Given the description of an element on the screen output the (x, y) to click on. 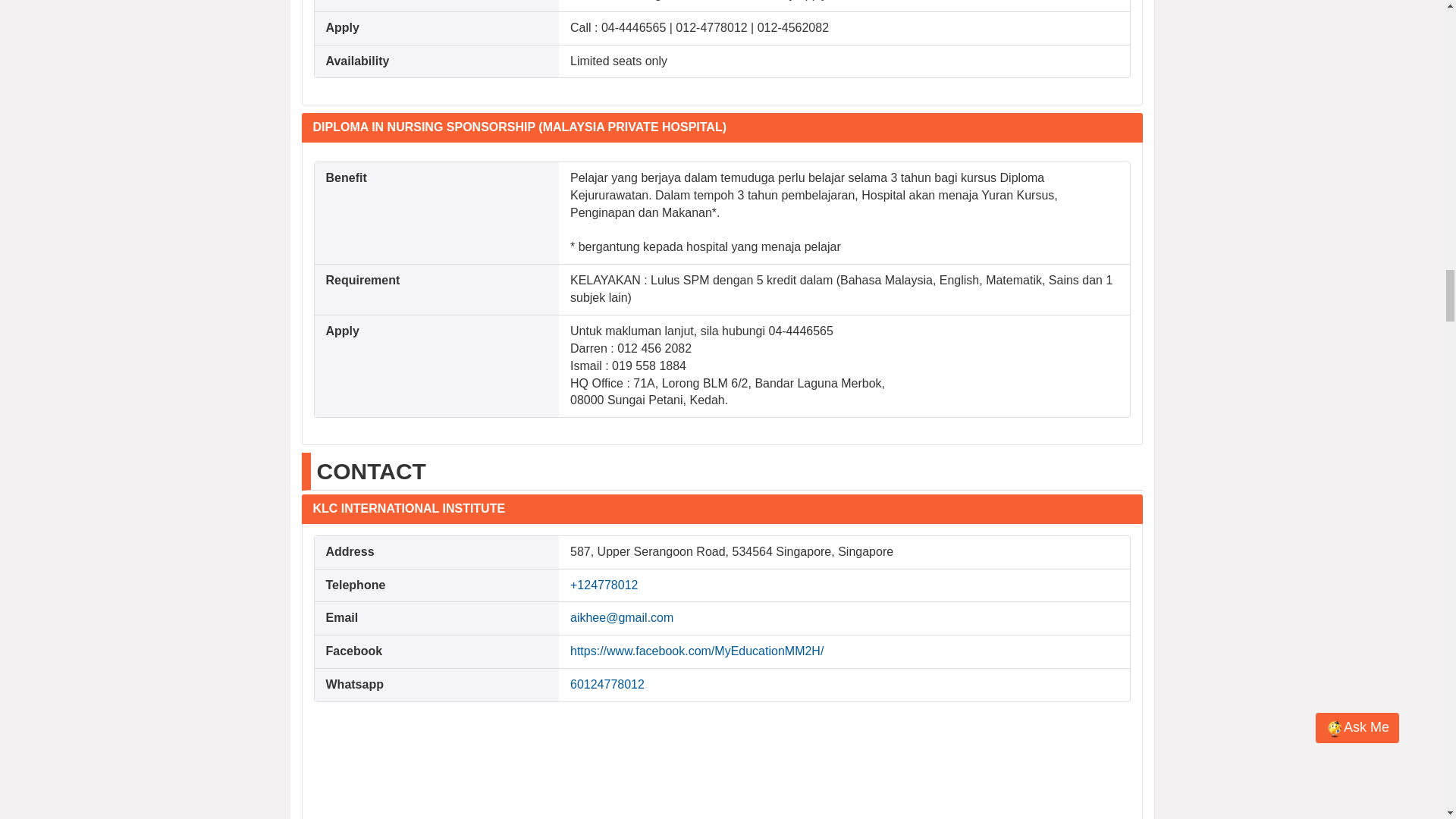
60124778012 (607, 684)
